Given the description of an element on the screen output the (x, y) to click on. 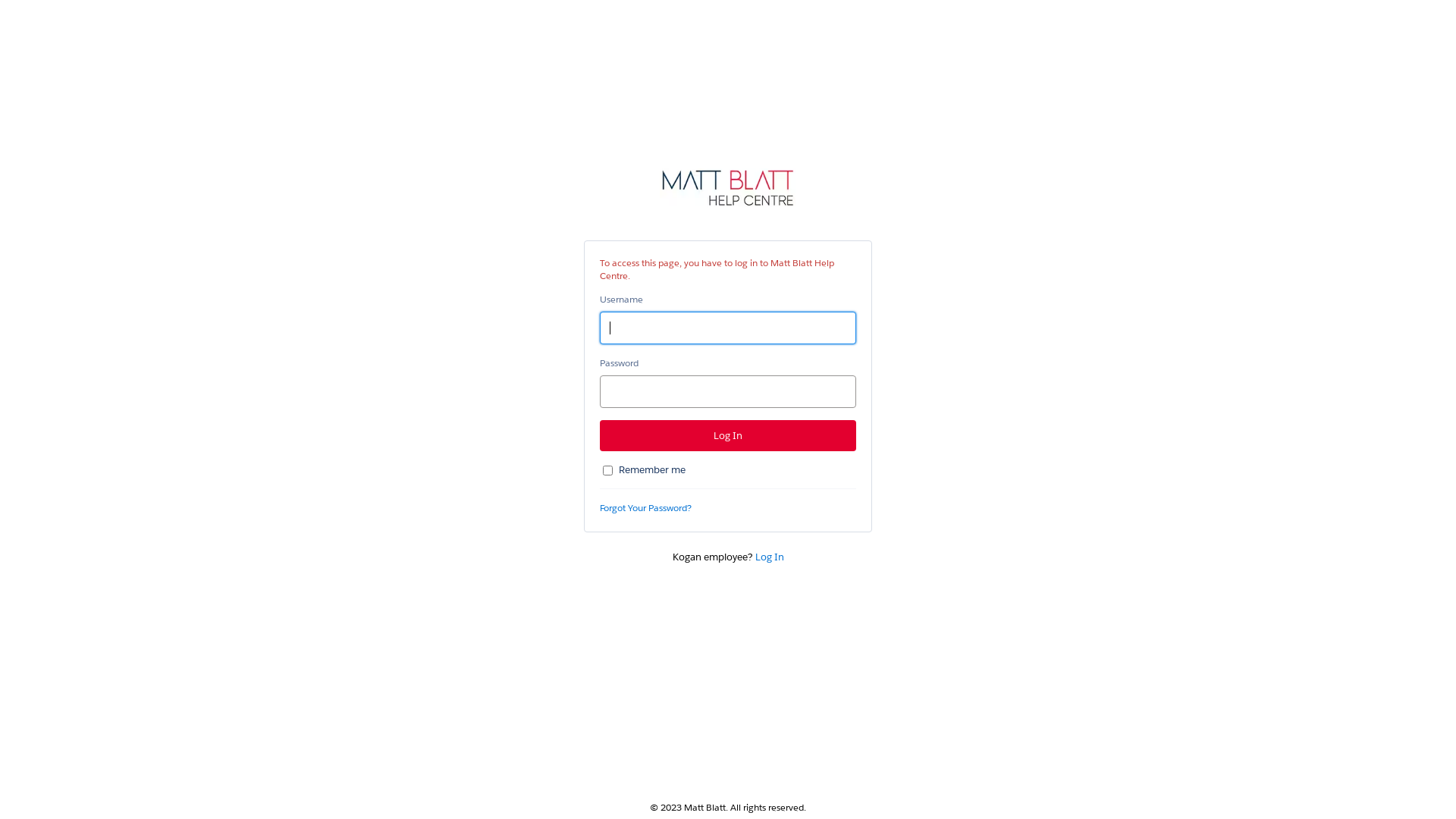
Log In Element type: text (769, 556)
Forgot Your Password? Element type: text (645, 507)
Log In Element type: text (727, 435)
